Given the description of an element on the screen output the (x, y) to click on. 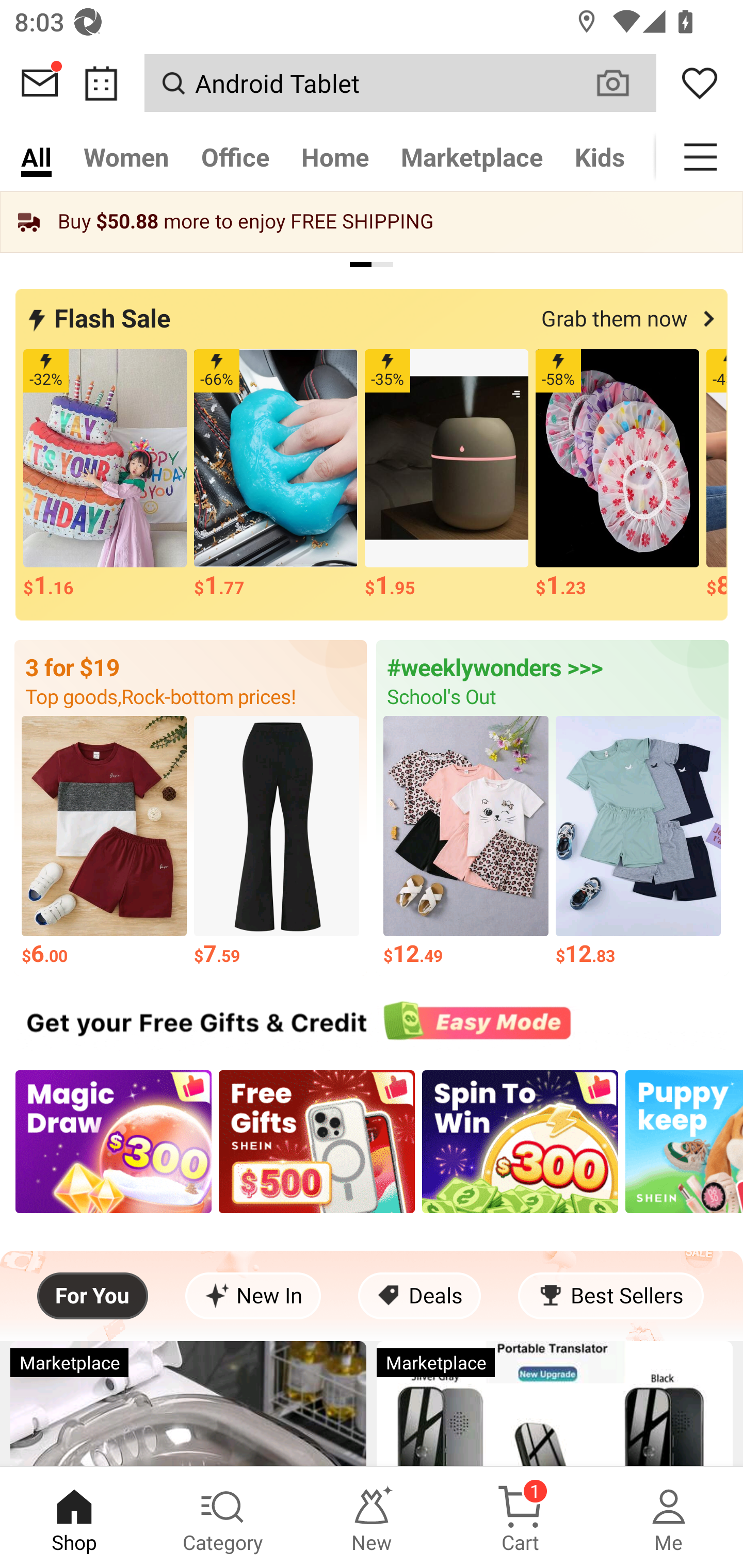
Wishlist (699, 82)
VISUAL SEARCH (623, 82)
All (36, 156)
Women (126, 156)
Office (235, 156)
Home (334, 156)
Marketplace (471, 156)
Kids (599, 156)
$6.00 Price $6.00 (103, 842)
$7.59 Price $7.59 (276, 842)
$12.49 Price $12.49 (465, 842)
$12.83 Price $12.83 (638, 842)
New In (252, 1295)
Deals (419, 1295)
Best Sellers (610, 1295)
Category (222, 1517)
New (371, 1517)
Cart 1 Cart (519, 1517)
Me (668, 1517)
